Given the description of an element on the screen output the (x, y) to click on. 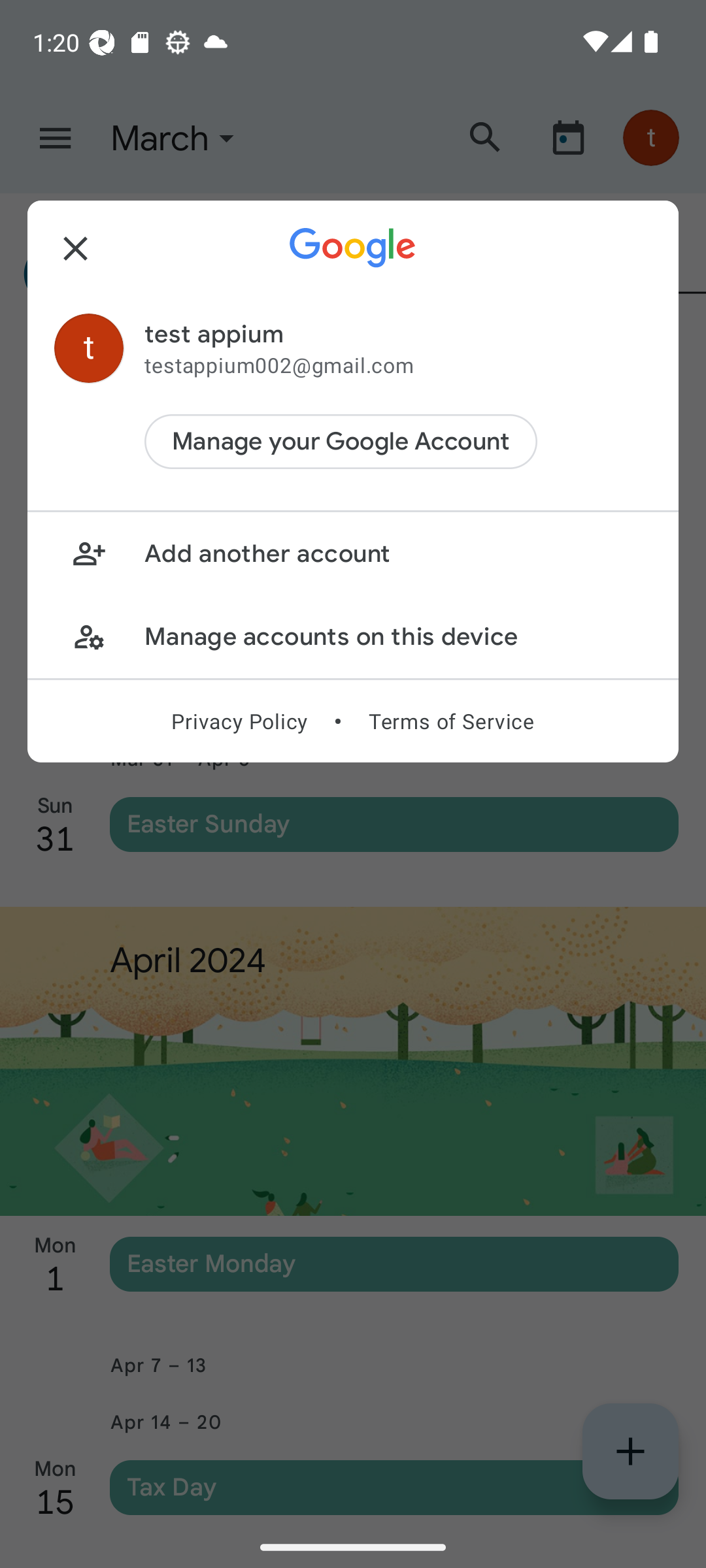
Close (75, 248)
Manage your Google Account (340, 440)
Add another account (353, 553)
Manage accounts on this device (353, 636)
Privacy Policy (239, 721)
Terms of Service (450, 721)
